Given the description of an element on the screen output the (x, y) to click on. 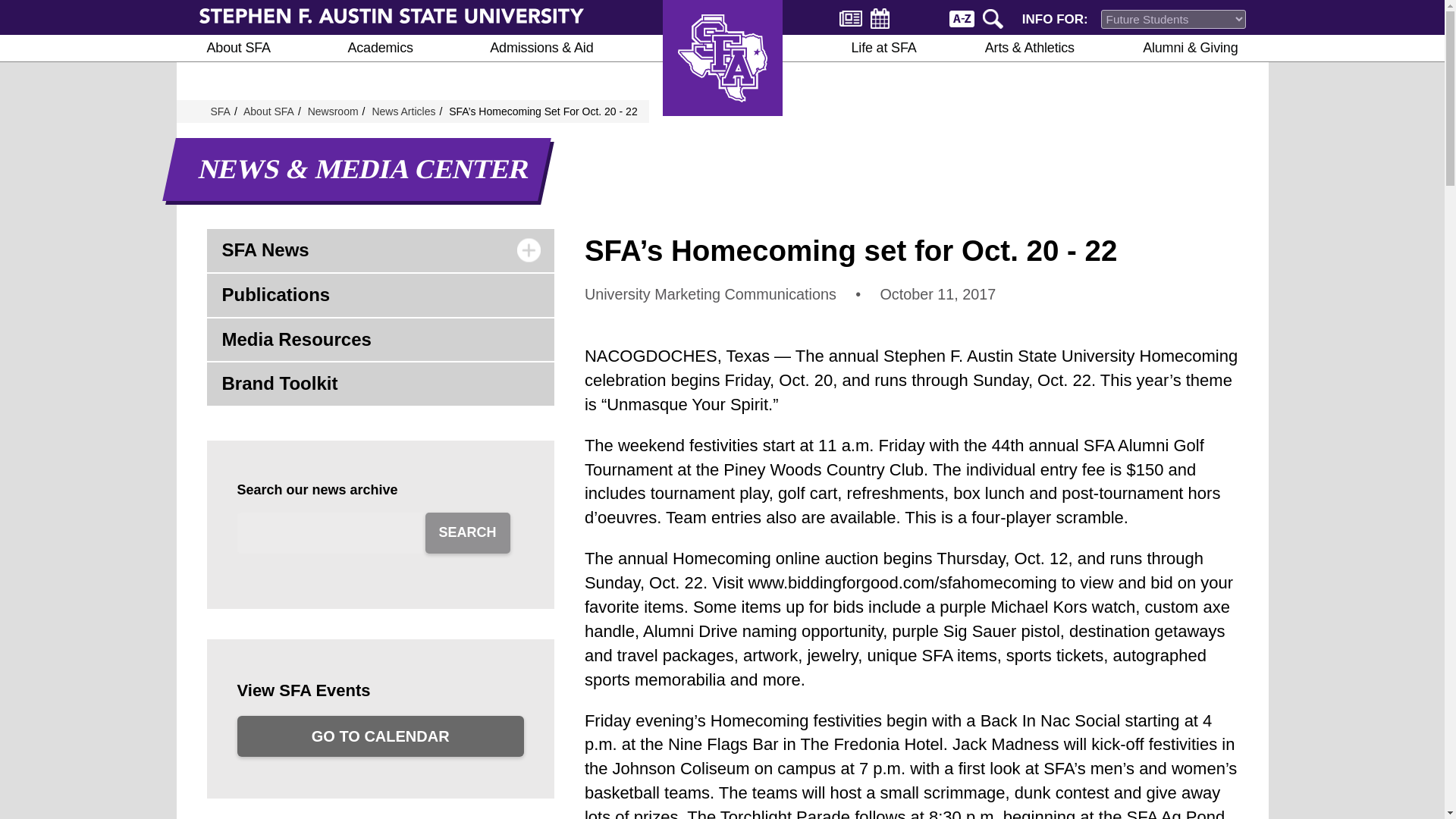
News (850, 18)
mySFA (919, 17)
mySFA (919, 17)
About SFA (238, 48)
Search  (994, 17)
A to Z list (961, 17)
News (850, 18)
Search (994, 17)
